Given the description of an element on the screen output the (x, y) to click on. 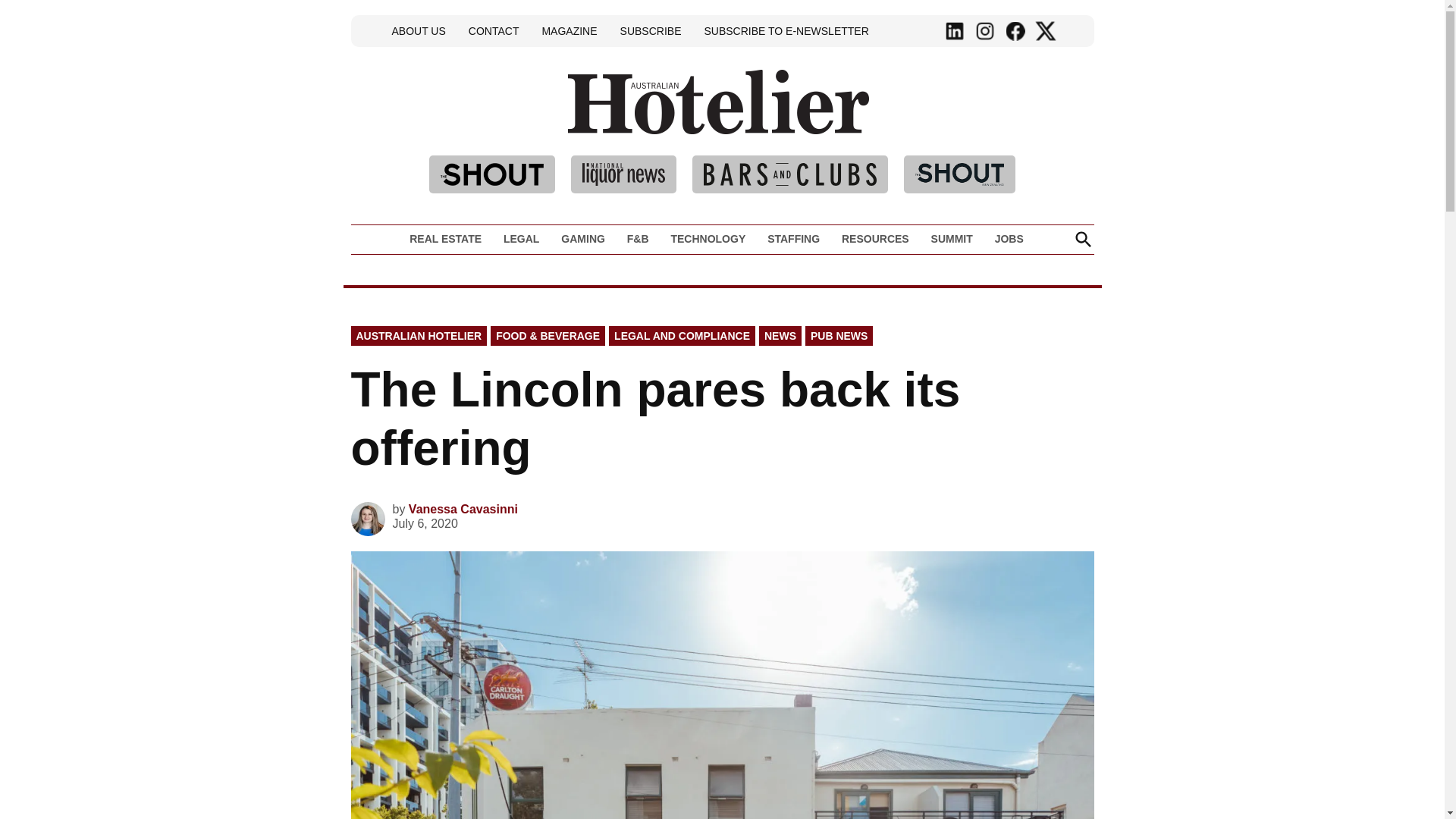
SUBSCRIBE (650, 30)
Linkedin (954, 31)
Australian Hotelier (920, 124)
CONTACT (493, 30)
SUBSCRIBE TO E-NEWSLETTER (786, 30)
ABOUT US (418, 30)
Facebook (1015, 31)
Twitter (1045, 31)
MAGAZINE (568, 30)
Instagram (984, 31)
